Given the description of an element on the screen output the (x, y) to click on. 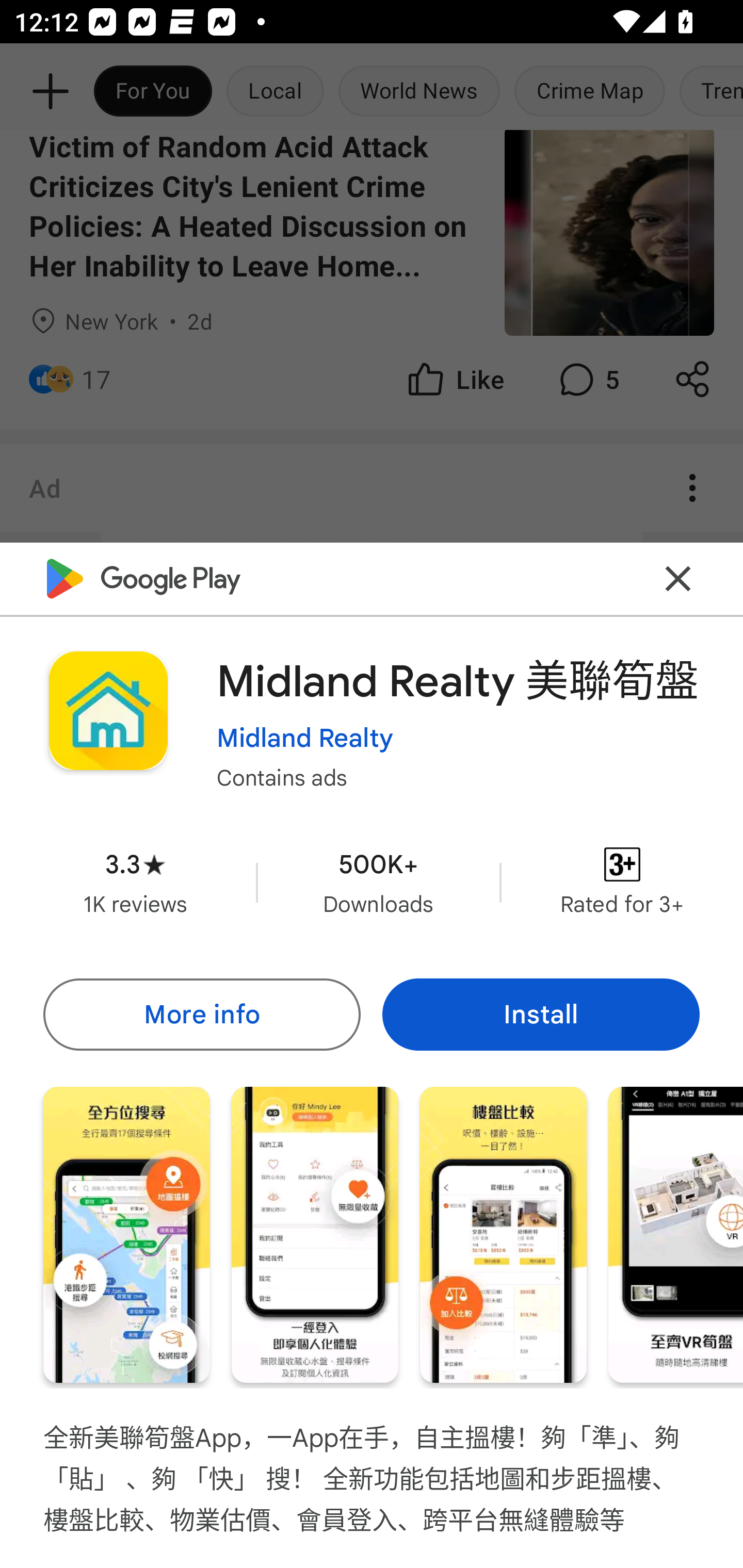
Close (677, 578)
Image of app or game icon for Midland Realty 美聯筍盤 (108, 711)
Midland Realty (304, 737)
More info (201, 1014)
Install (540, 1014)
Screenshot "1" of "7" (126, 1234)
Screenshot "2" of "7" (314, 1234)
Screenshot "3" of "7" (502, 1234)
Screenshot "4" of "7" (675, 1234)
